Given the description of an element on the screen output the (x, y) to click on. 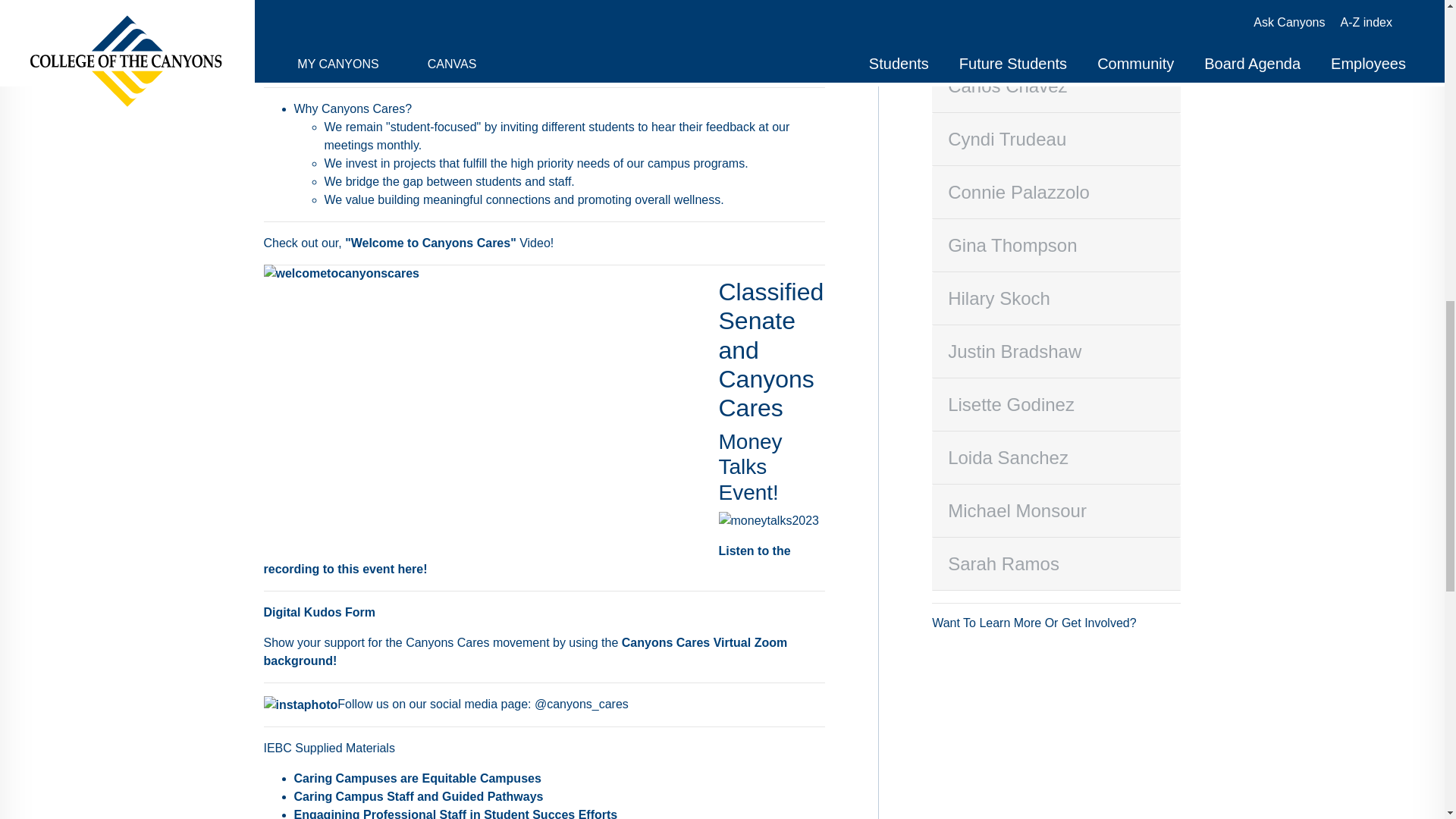
ccareszoombackground (525, 651)
Caring Campus Staff and Guided Pathways (418, 796)
"Welcome to Canyons Cares" (430, 242)
"Welcome to Canyons Cares" (430, 242)
Engagining Professional Staff in Student Succes Efforts (455, 813)
IEBC (418, 796)
Listen to the recording to this event here! (526, 559)
instaphoto (300, 705)
engaging professional staff (455, 813)
Canyons Cares Virtual Zoom background! (525, 651)
